Given the description of an element on the screen output the (x, y) to click on. 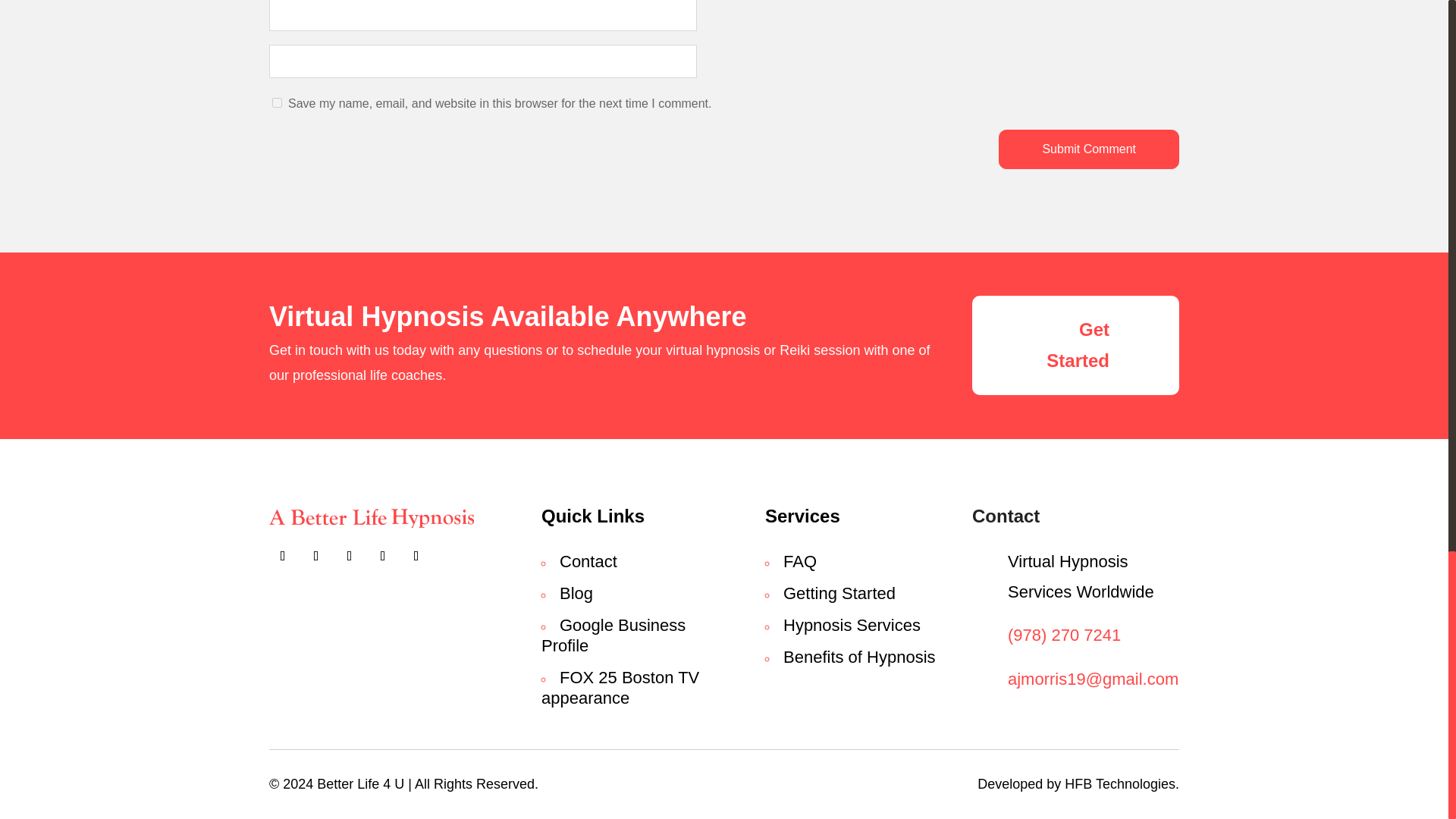
Getting Started (839, 592)
Google Business Profile (613, 635)
Follow on LinkedIn (416, 555)
Follow on Google (349, 555)
yes (277, 102)
Follow on Facebook (283, 555)
Blog (575, 592)
Follow on Instagram (382, 555)
A Better Life Hypnosis (372, 517)
Get Started (1075, 344)
Benefits of Hypnosis (859, 656)
Follow on X (316, 555)
FAQ (799, 561)
FOX 25 Boston TV appearance (619, 687)
Contact (588, 561)
